Given the description of an element on the screen output the (x, y) to click on. 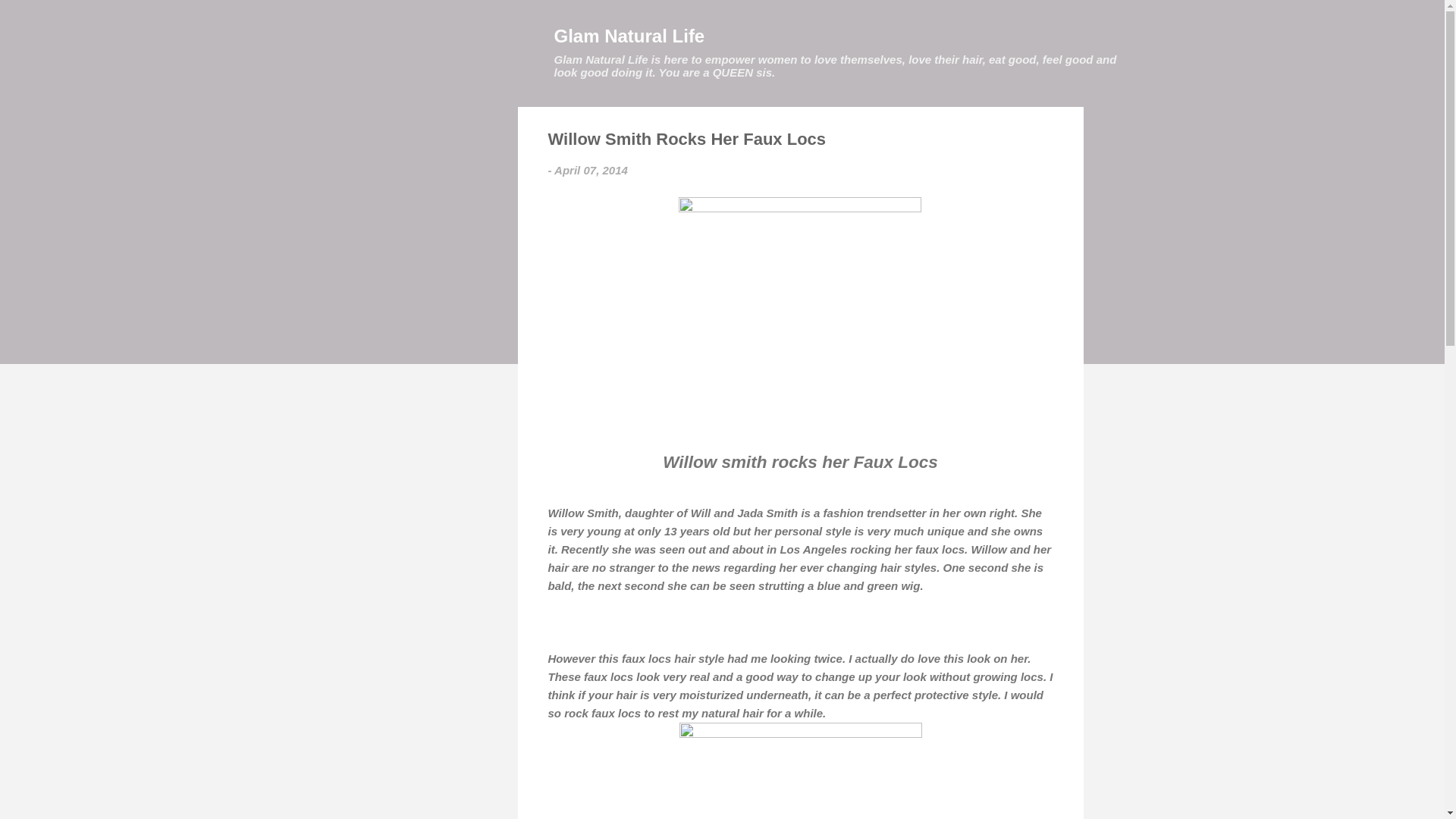
April 07, 2014 (590, 169)
Search (29, 18)
permanent link (590, 169)
Glam Natural Life (628, 35)
